Given the description of an element on the screen output the (x, y) to click on. 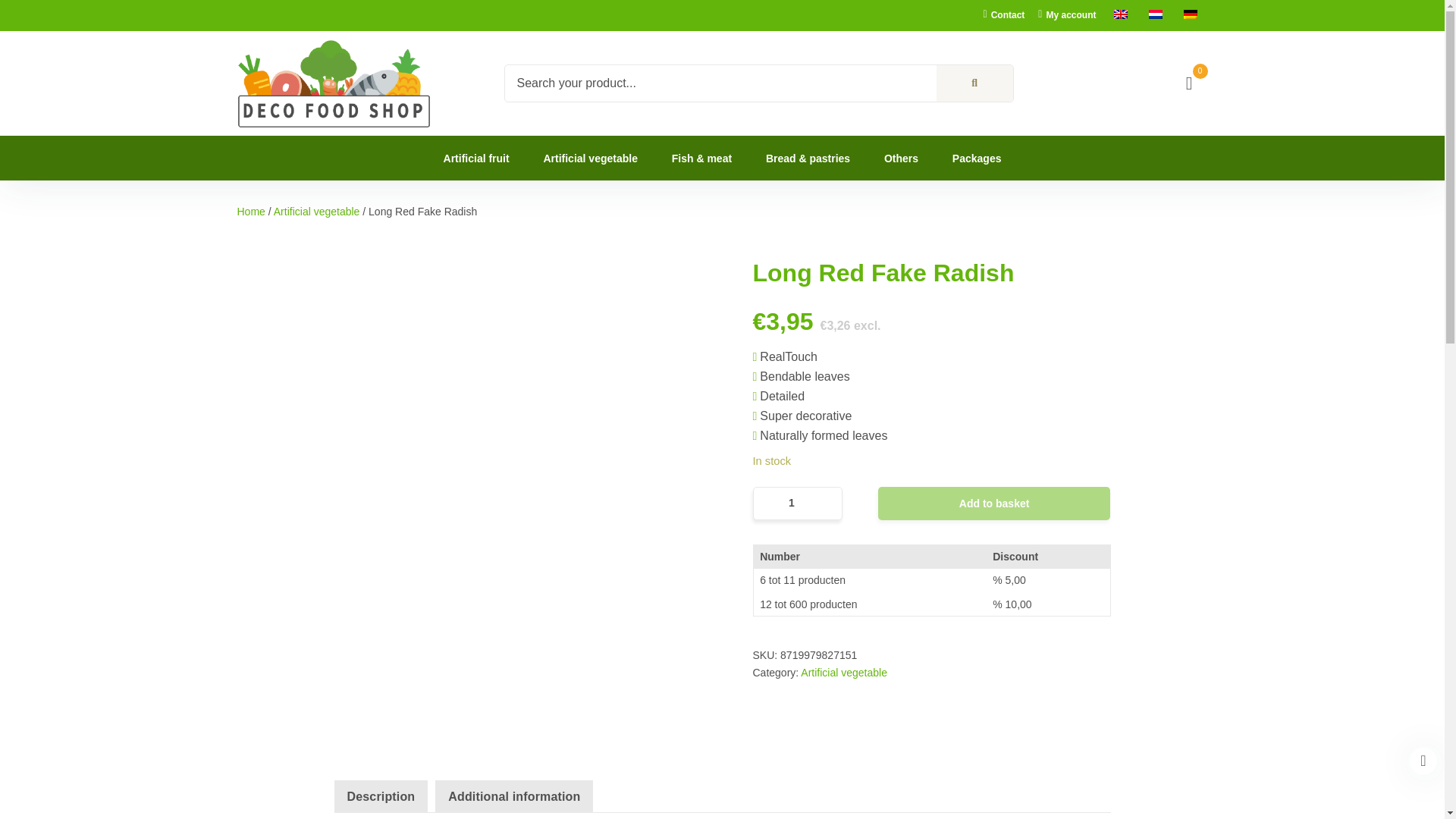
Description (381, 797)
Artificial vegetable (316, 211)
Artificial vegetable (589, 157)
Dutch (1154, 13)
Home (249, 211)
Artificial vegetable (316, 211)
1 (796, 503)
Contact (1004, 15)
German (1189, 13)
